Given the description of an element on the screen output the (x, y) to click on. 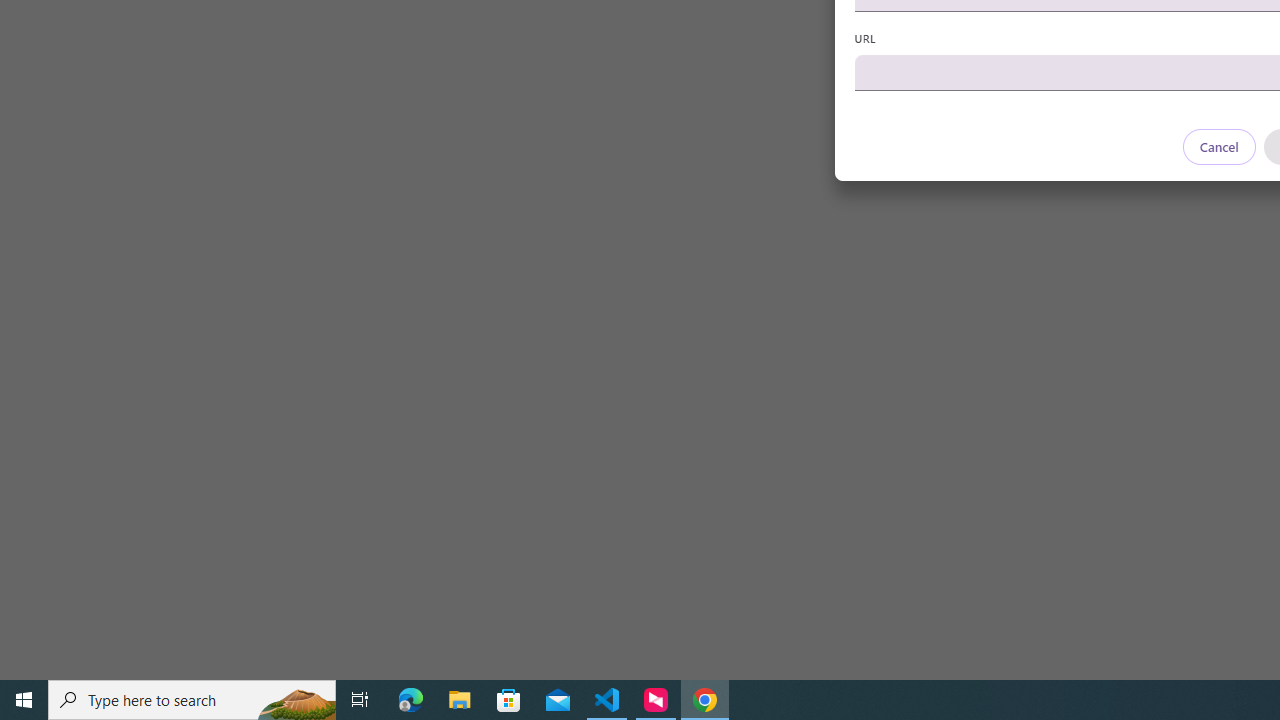
Cancel (1218, 146)
